Given the description of an element on the screen output the (x, y) to click on. 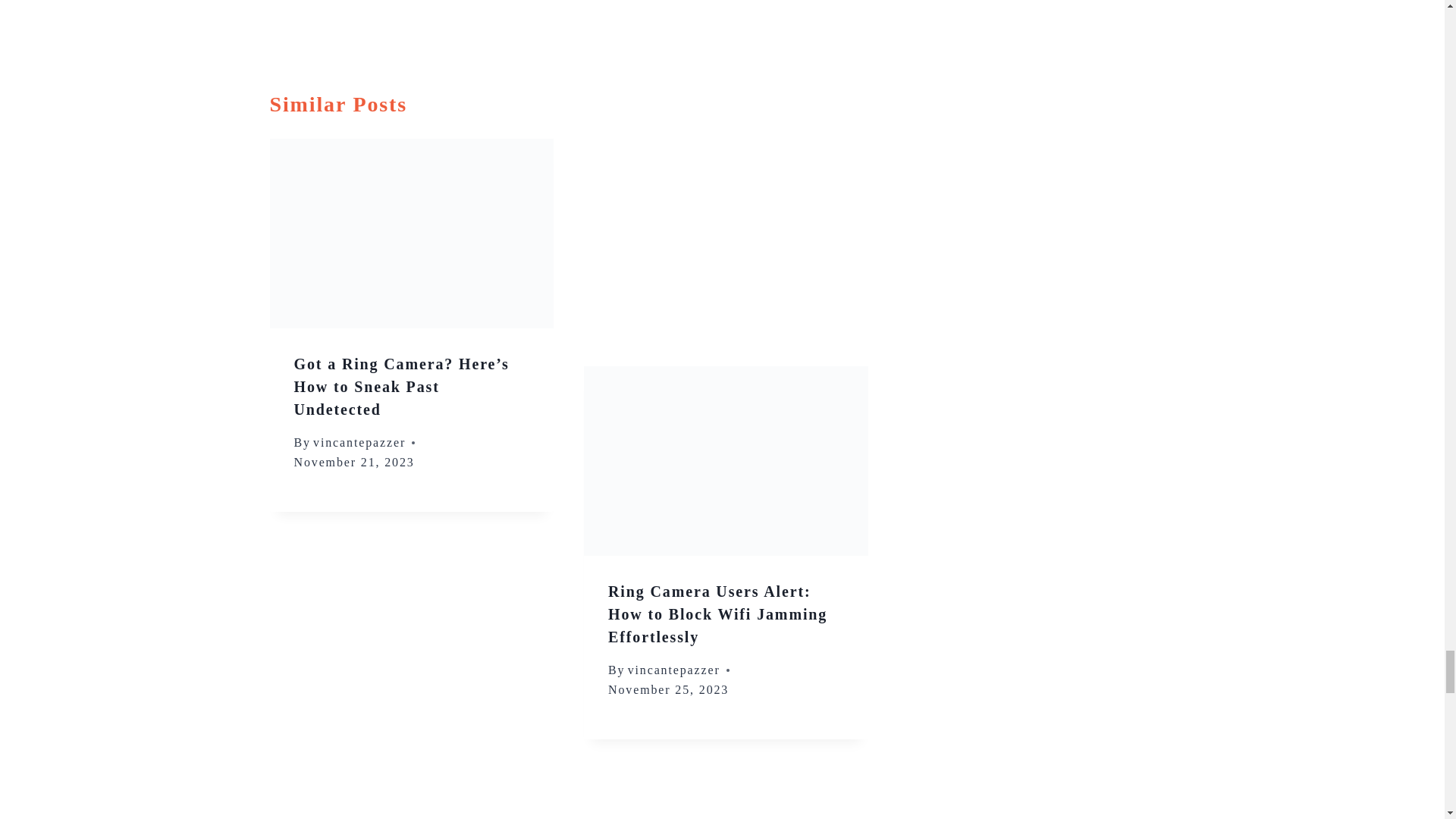
vincantepazzer (673, 669)
vincantepazzer (359, 441)
